Given the description of an element on the screen output the (x, y) to click on. 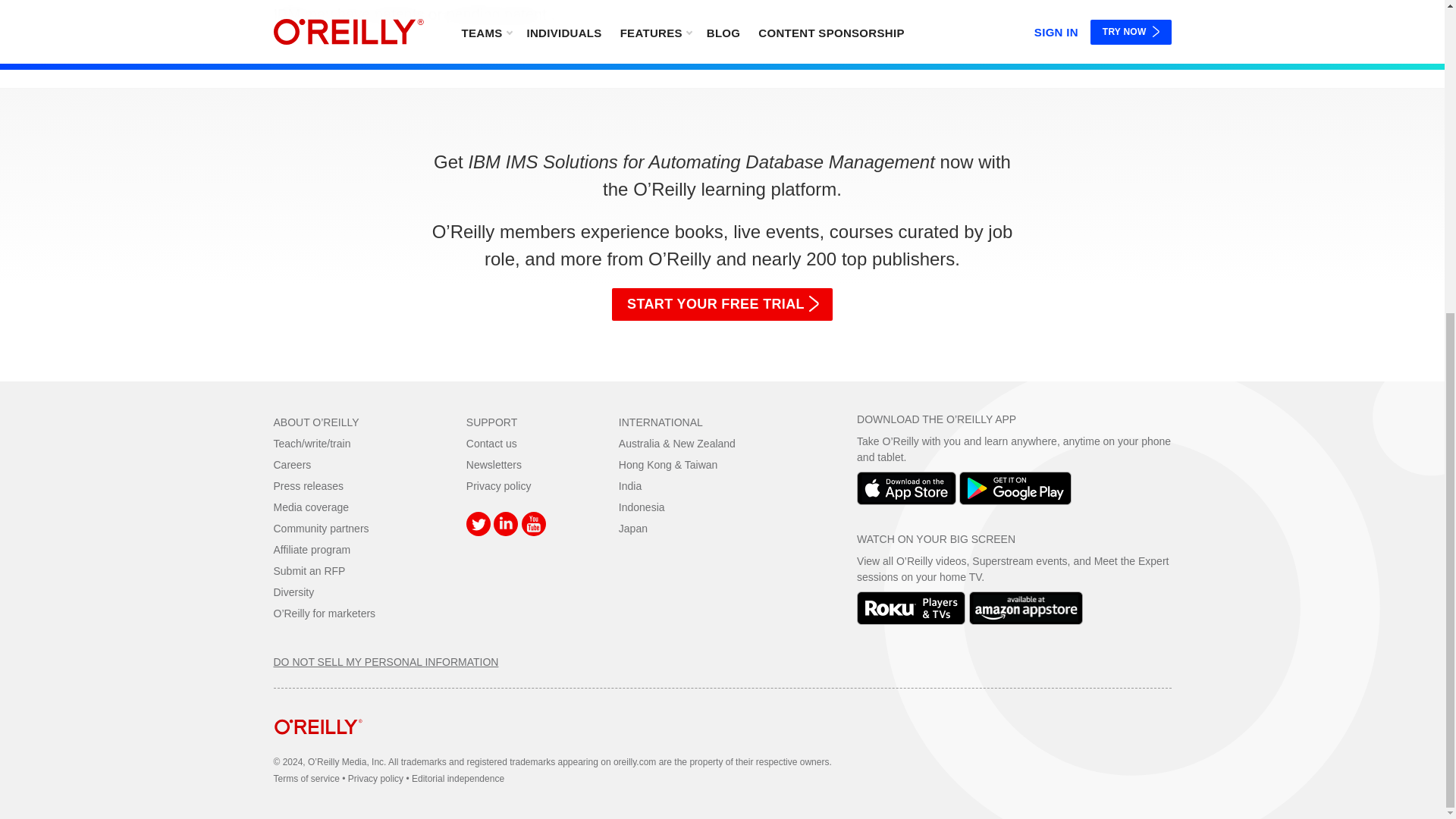
Affiliate program (311, 549)
Newsletters (493, 464)
START YOUR FREE TRIAL (721, 304)
Submit an RFP (309, 571)
Diversity (293, 592)
Community partners (320, 528)
Privacy policy (498, 485)
Careers (292, 464)
Press releases (308, 485)
home page (317, 745)
Contact us (490, 443)
Media coverage (311, 507)
SUPPORT (490, 422)
